Given the description of an element on the screen output the (x, y) to click on. 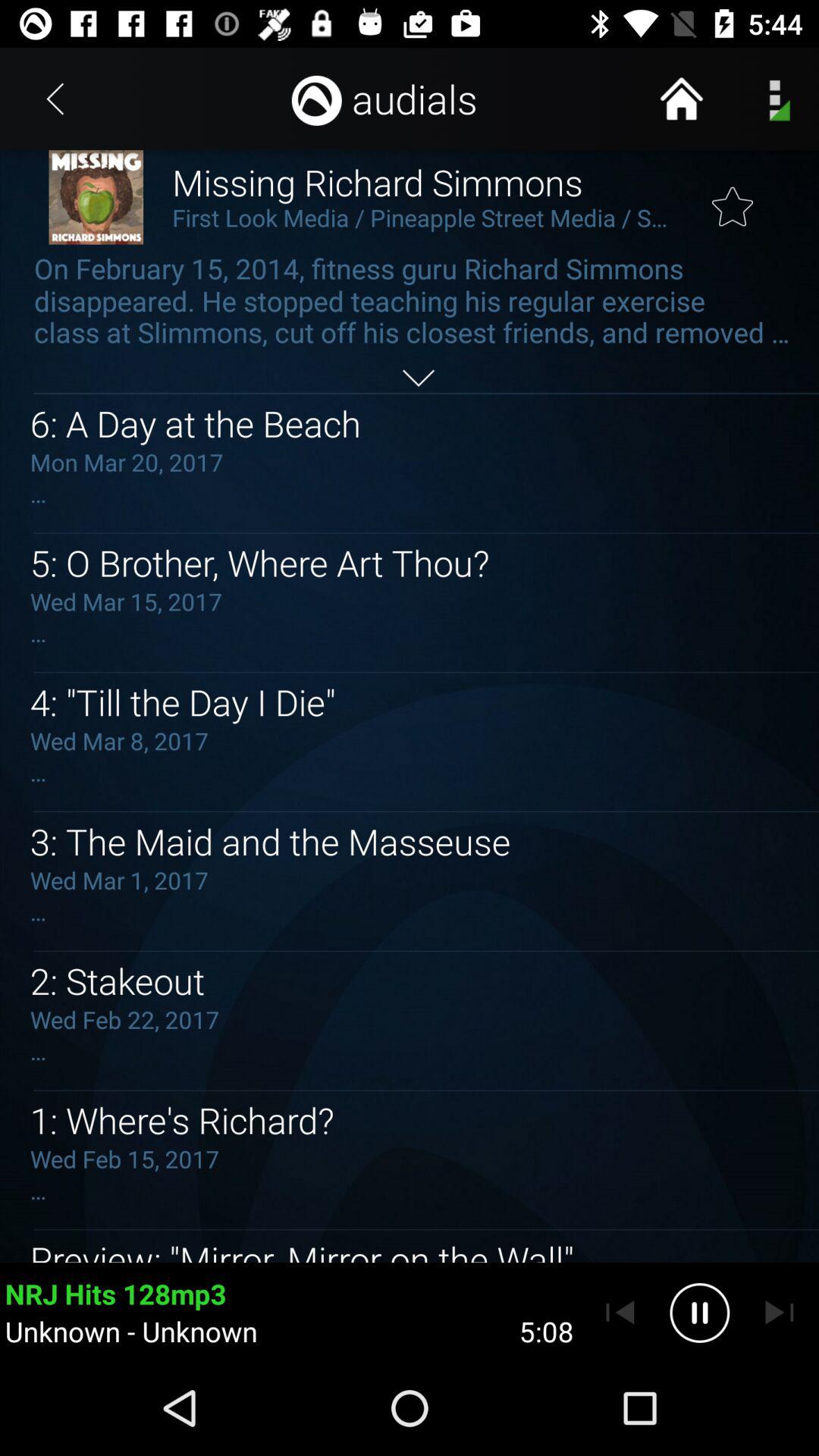
see more (418, 378)
